Given the description of an element on the screen output the (x, y) to click on. 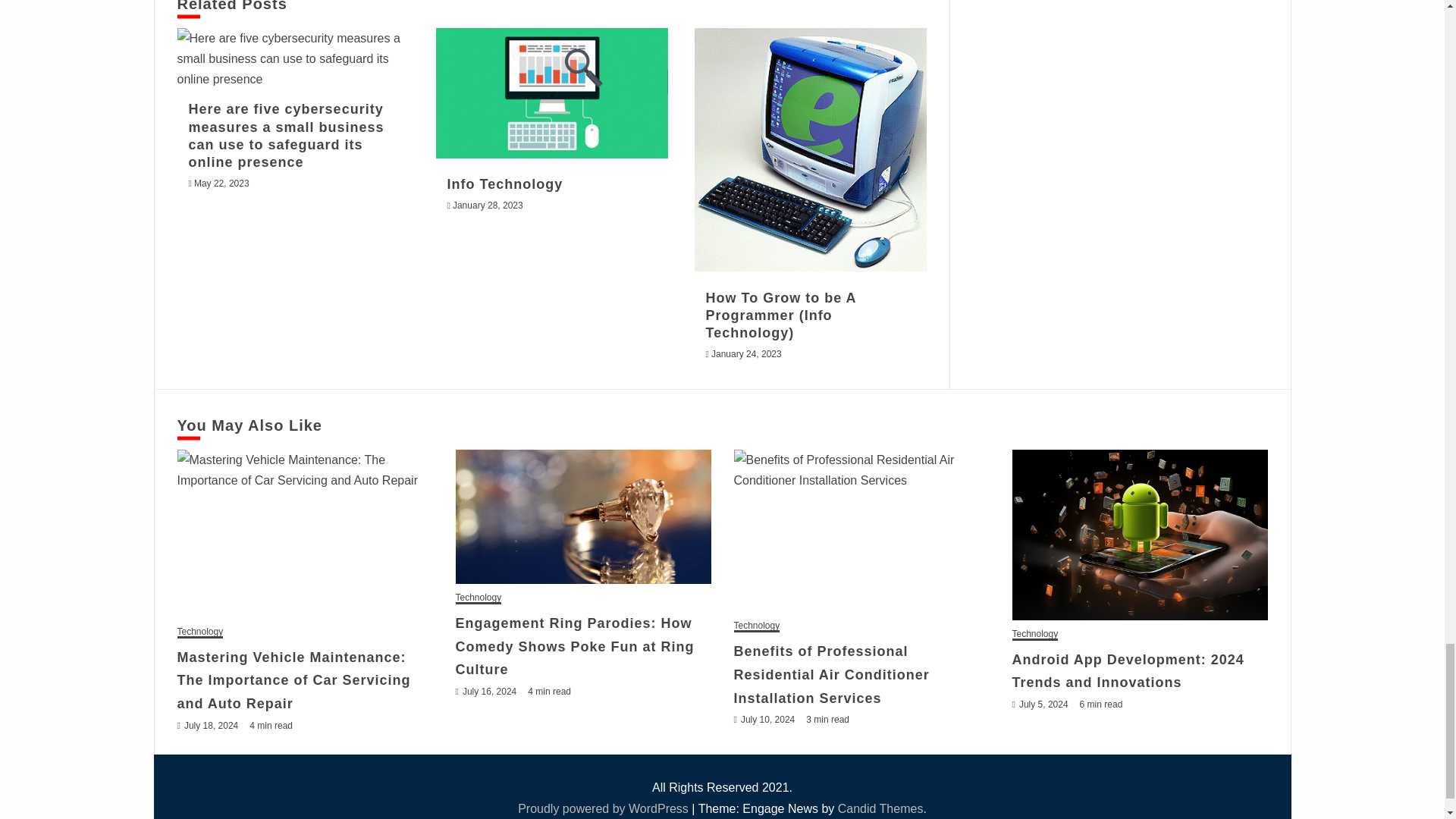
Info Technology (551, 92)
